Given the description of an element on the screen output the (x, y) to click on. 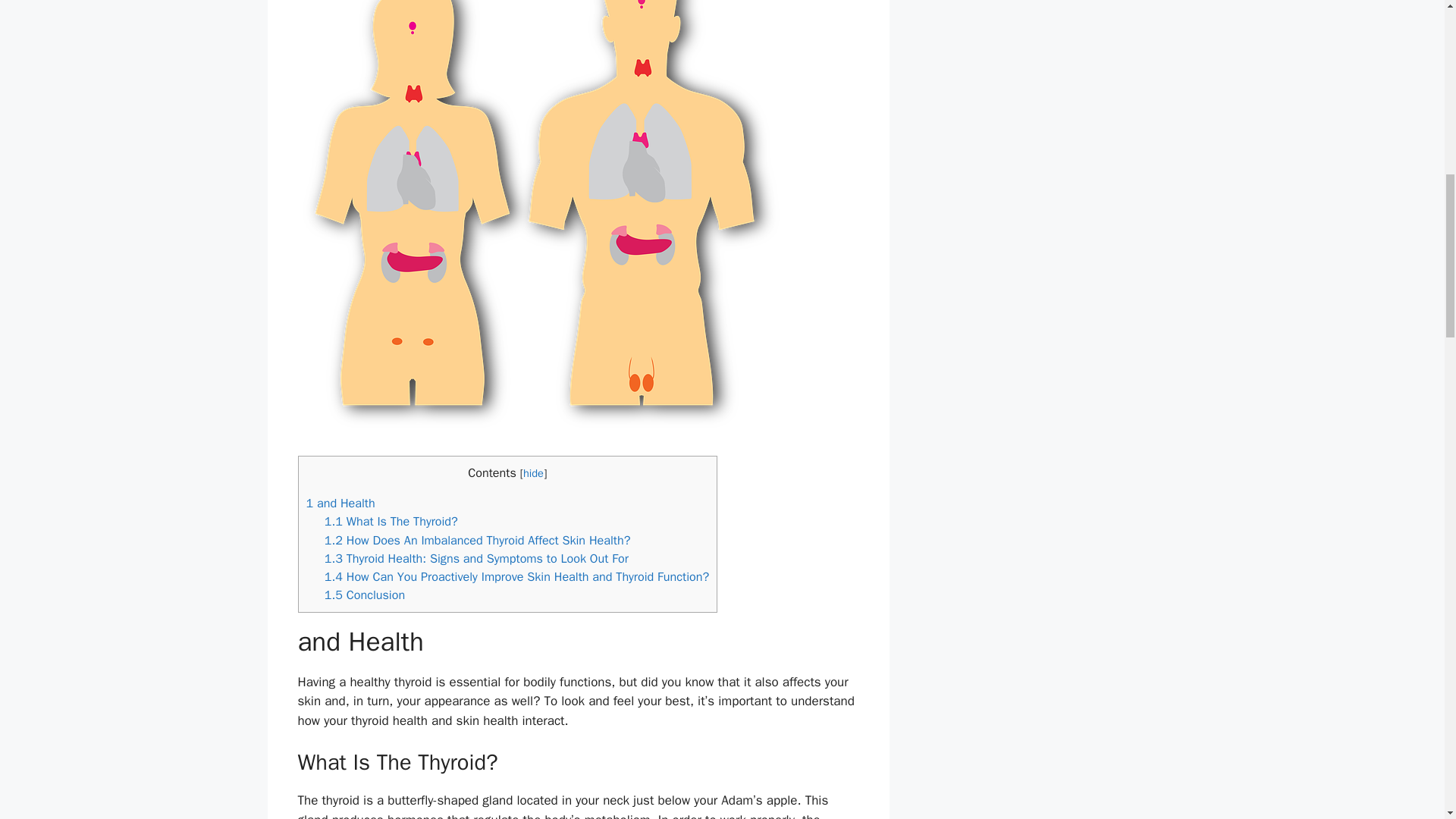
1.5 Conclusion (364, 594)
1.3 Thyroid Health: Signs and Symptoms to Look Out For (476, 558)
1 and Health (340, 503)
1.2 How Does An Imbalanced Thyroid Affect Skin Health? (477, 539)
hide (532, 472)
1.1 What Is The Thyroid? (391, 521)
